Given the description of an element on the screen output the (x, y) to click on. 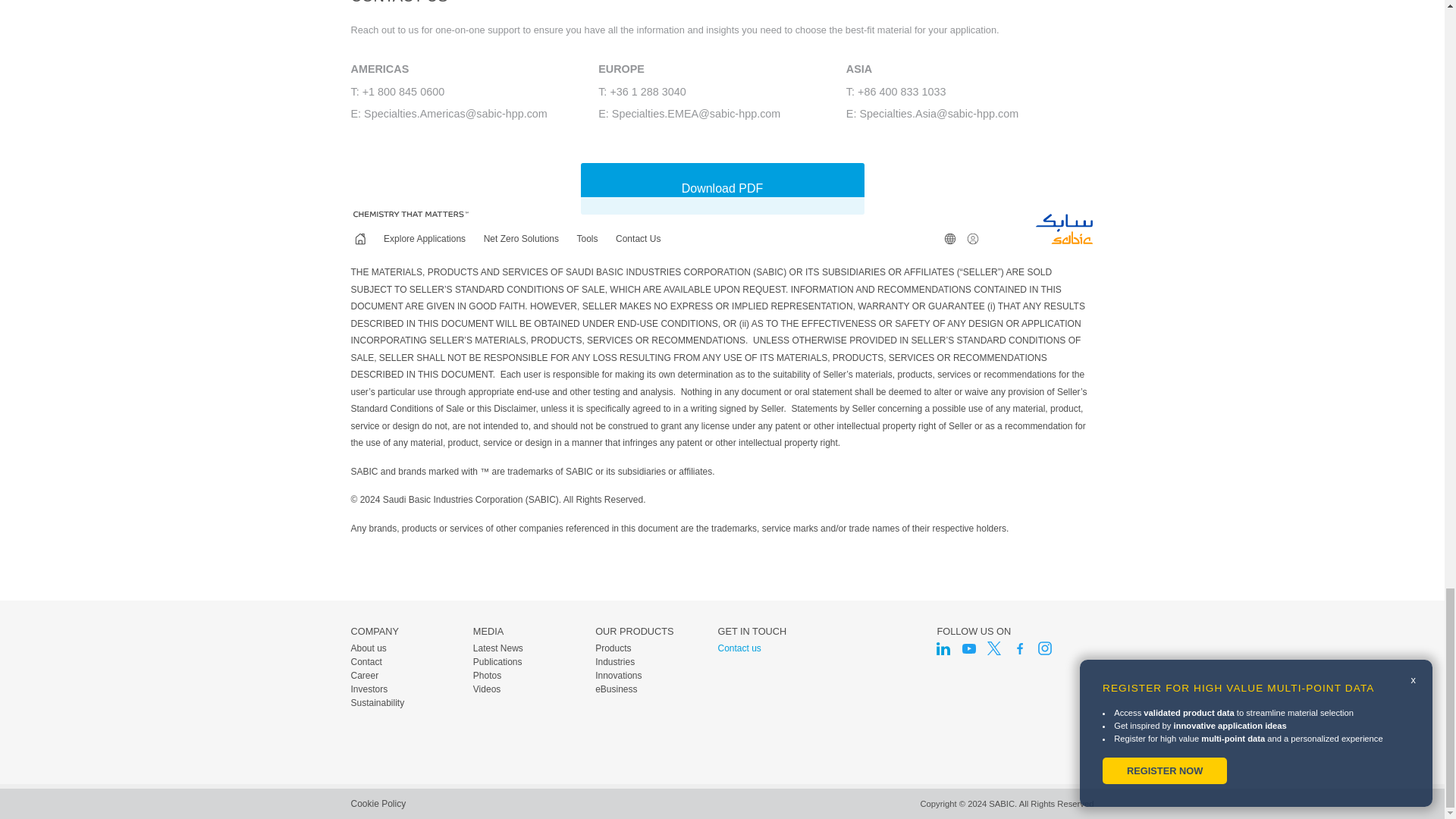
Download PDF (721, 188)
Download PDF (722, 188)
